Given the description of an element on the screen output the (x, y) to click on. 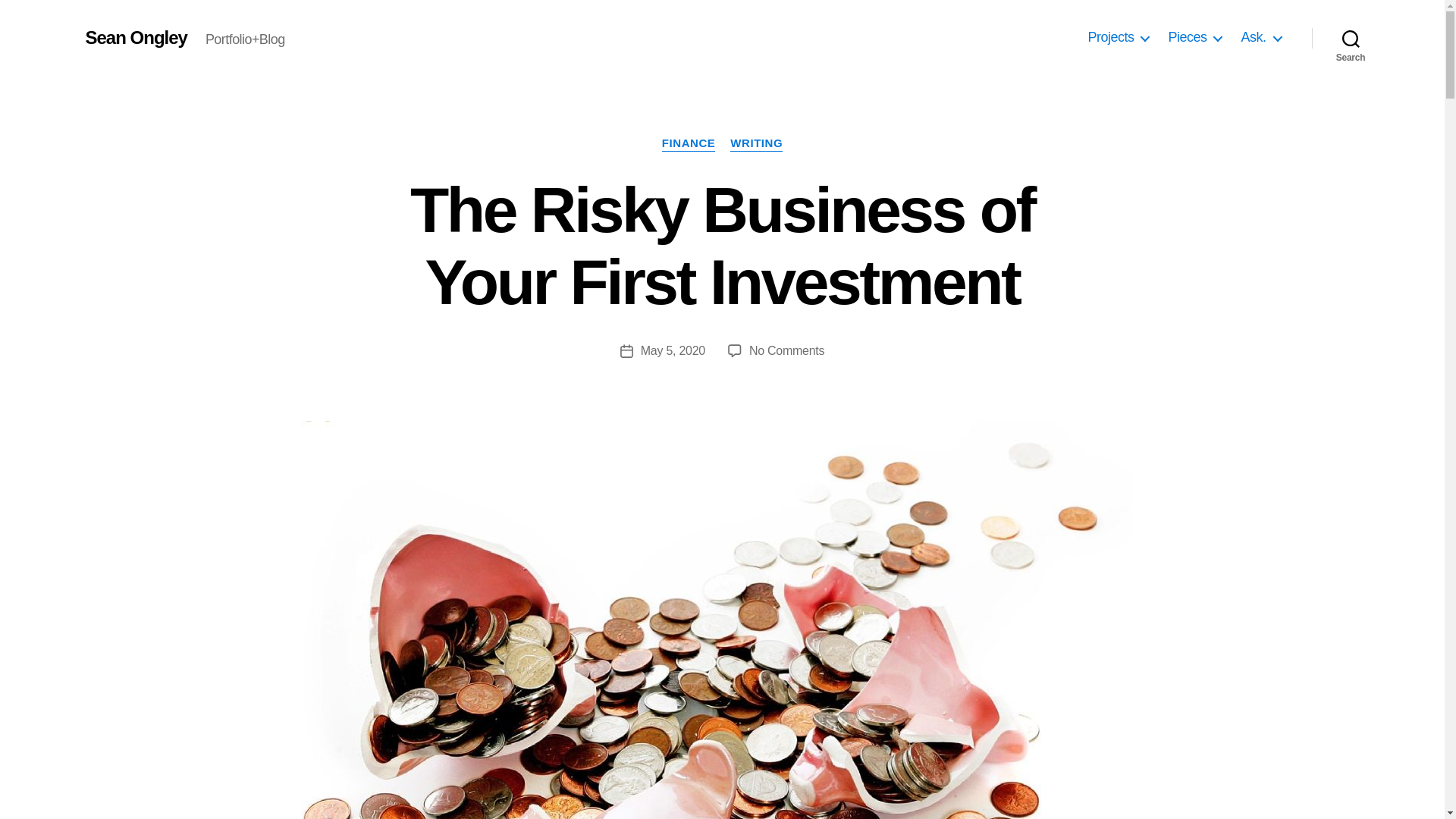
Sean Ongley (135, 37)
Ask. (1260, 37)
Search (1350, 37)
Pieces (1194, 37)
Projects (1117, 37)
